Given the description of an element on the screen output the (x, y) to click on. 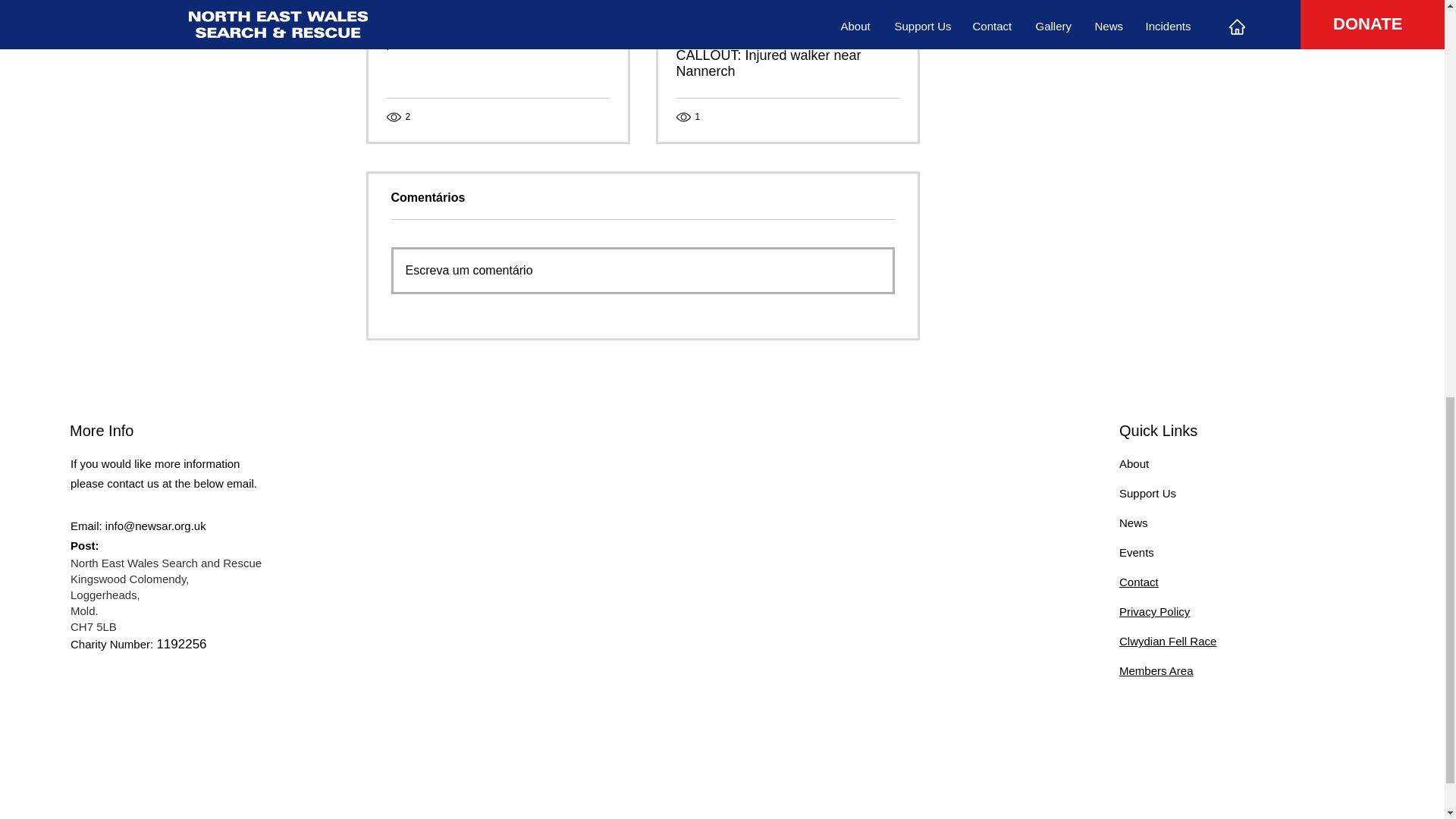
Contact (1138, 581)
Privacy Policy (1154, 611)
Support Us (1147, 492)
Clwydian Fell Race (1167, 640)
CALLOUT: Injured walker near Nannerch (788, 63)
Members Area (1156, 670)
Events (1136, 552)
News (1133, 522)
About (1133, 463)
